Given the description of an element on the screen output the (x, y) to click on. 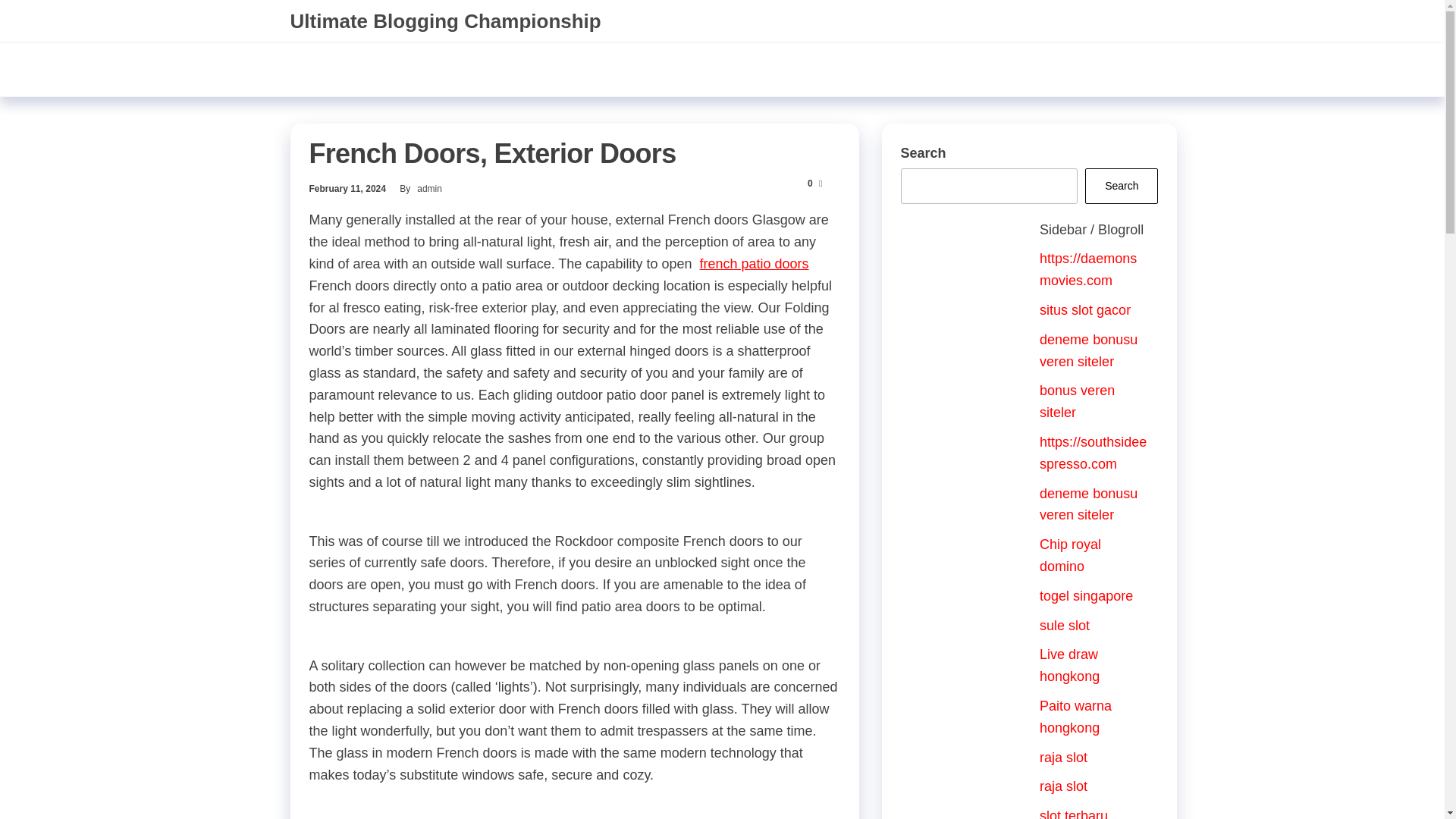
admin (429, 188)
Live draw hongkong (1069, 665)
french patio doors (753, 263)
raja slot (1063, 757)
deneme bonusu veren siteler (1088, 504)
slot terbaru (1073, 813)
sule slot (1064, 625)
togel singapore (1085, 595)
bonus veren siteler (1077, 401)
situs slot gacor (1085, 309)
deneme bonusu veren siteler (1088, 350)
Ultimate Blogging Championship (444, 20)
Paito warna hongkong (1075, 716)
Search (1120, 185)
Chip royal domino (1069, 555)
